Given the description of an element on the screen output the (x, y) to click on. 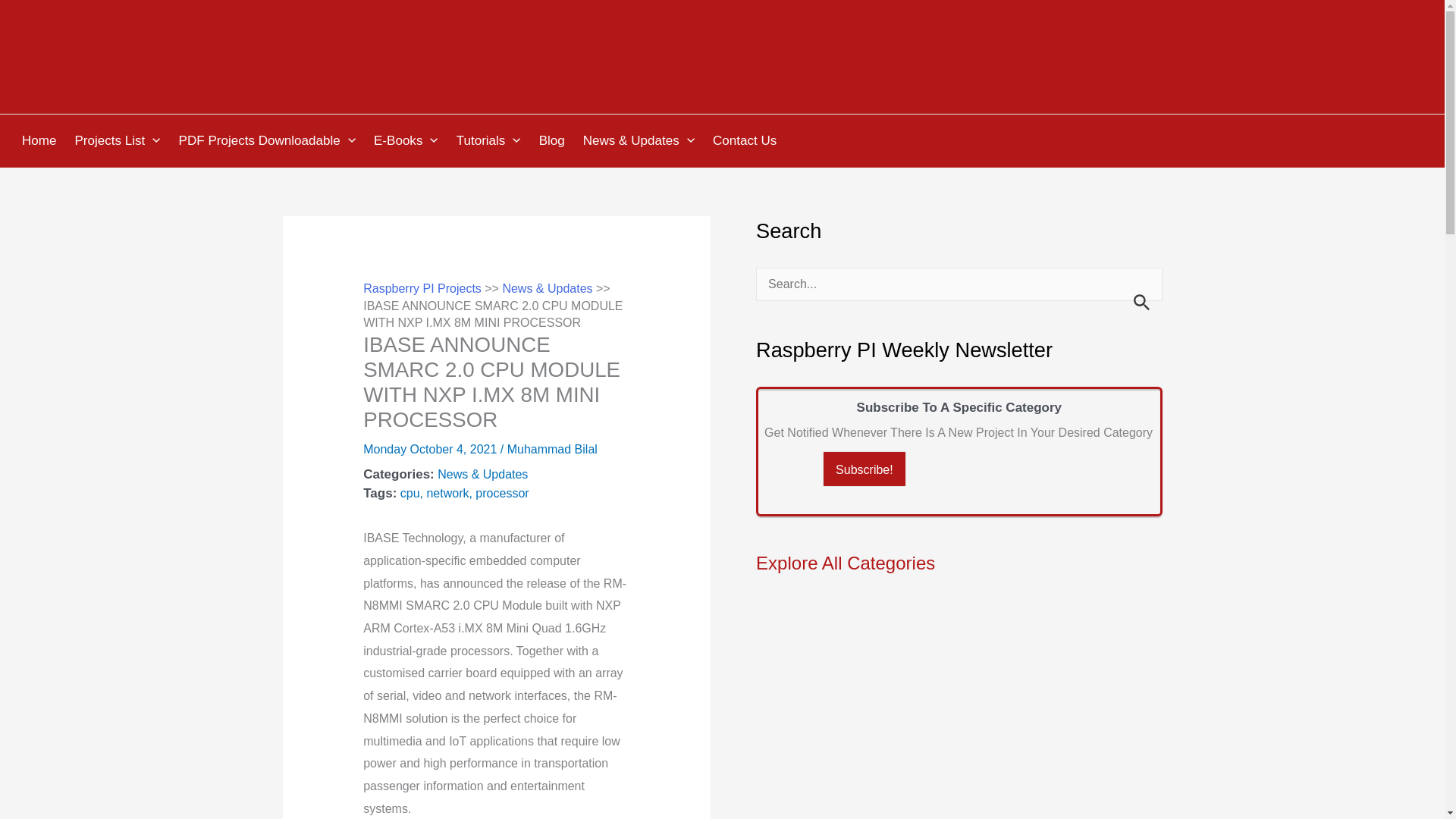
E-Books (407, 141)
Raspberry Pi Complete Project List in PDF (268, 141)
Go to Raspberry PI Projects. (421, 287)
Home (40, 141)
PDF Projects Downloadable (268, 141)
Blog (554, 141)
Raspberry Pi Tutorials (490, 141)
Tutorials (490, 141)
Contact Us (746, 141)
Projects List (118, 141)
